Given the description of an element on the screen output the (x, y) to click on. 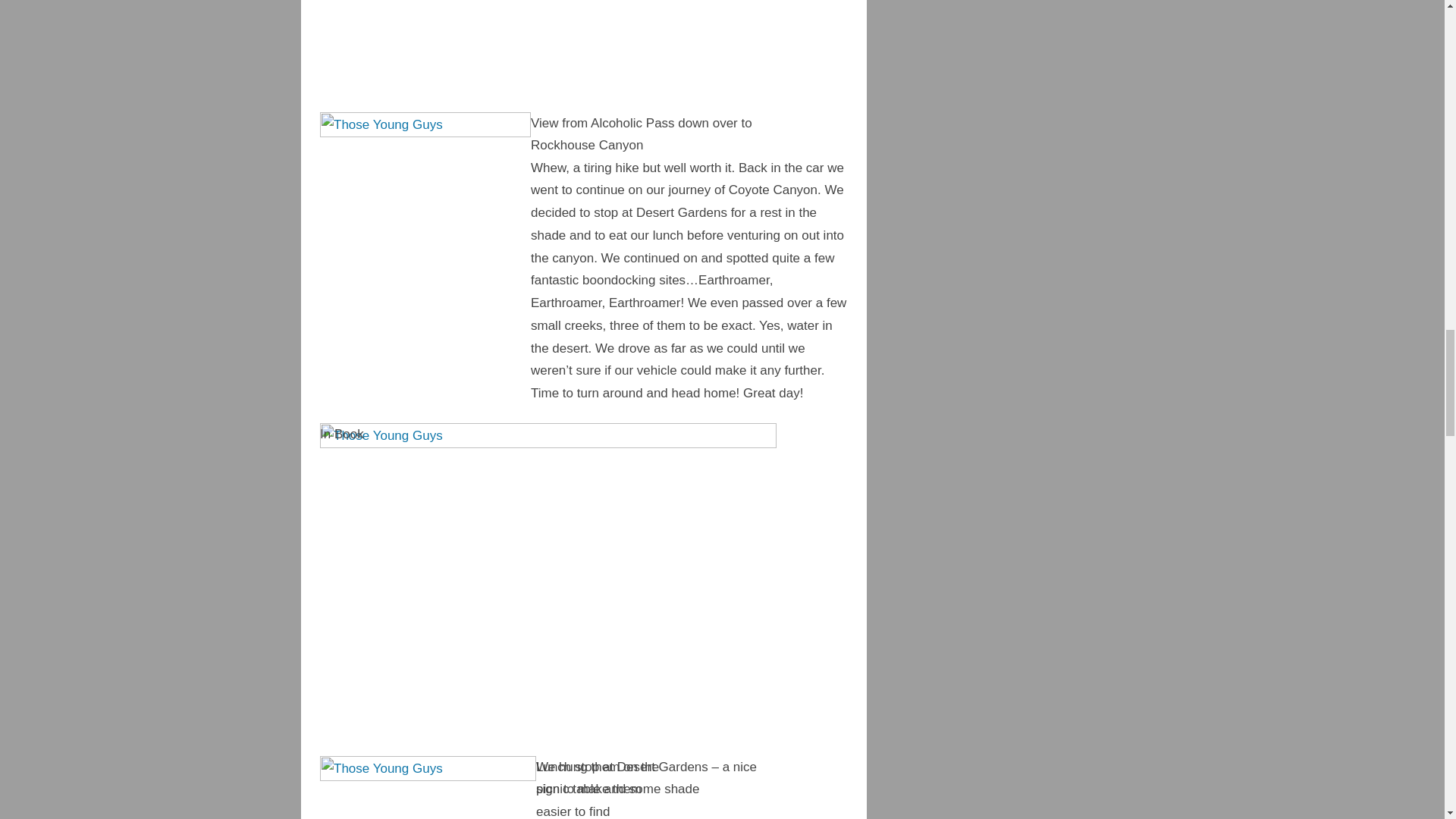
Those Young Guys (550, 56)
Those Young Guys (427, 787)
